Given the description of an element on the screen output the (x, y) to click on. 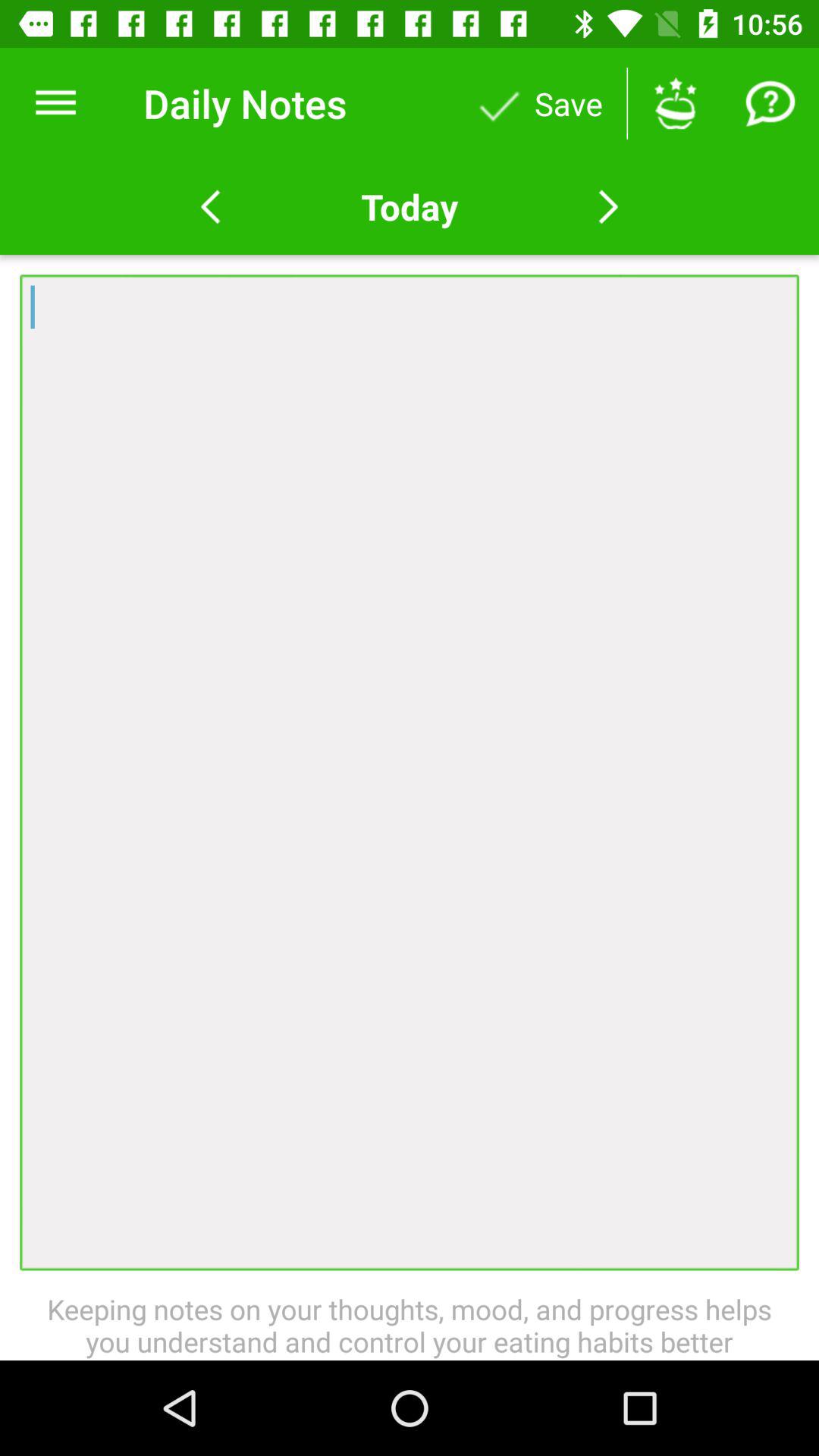
go to previous (210, 206)
